Given the description of an element on the screen output the (x, y) to click on. 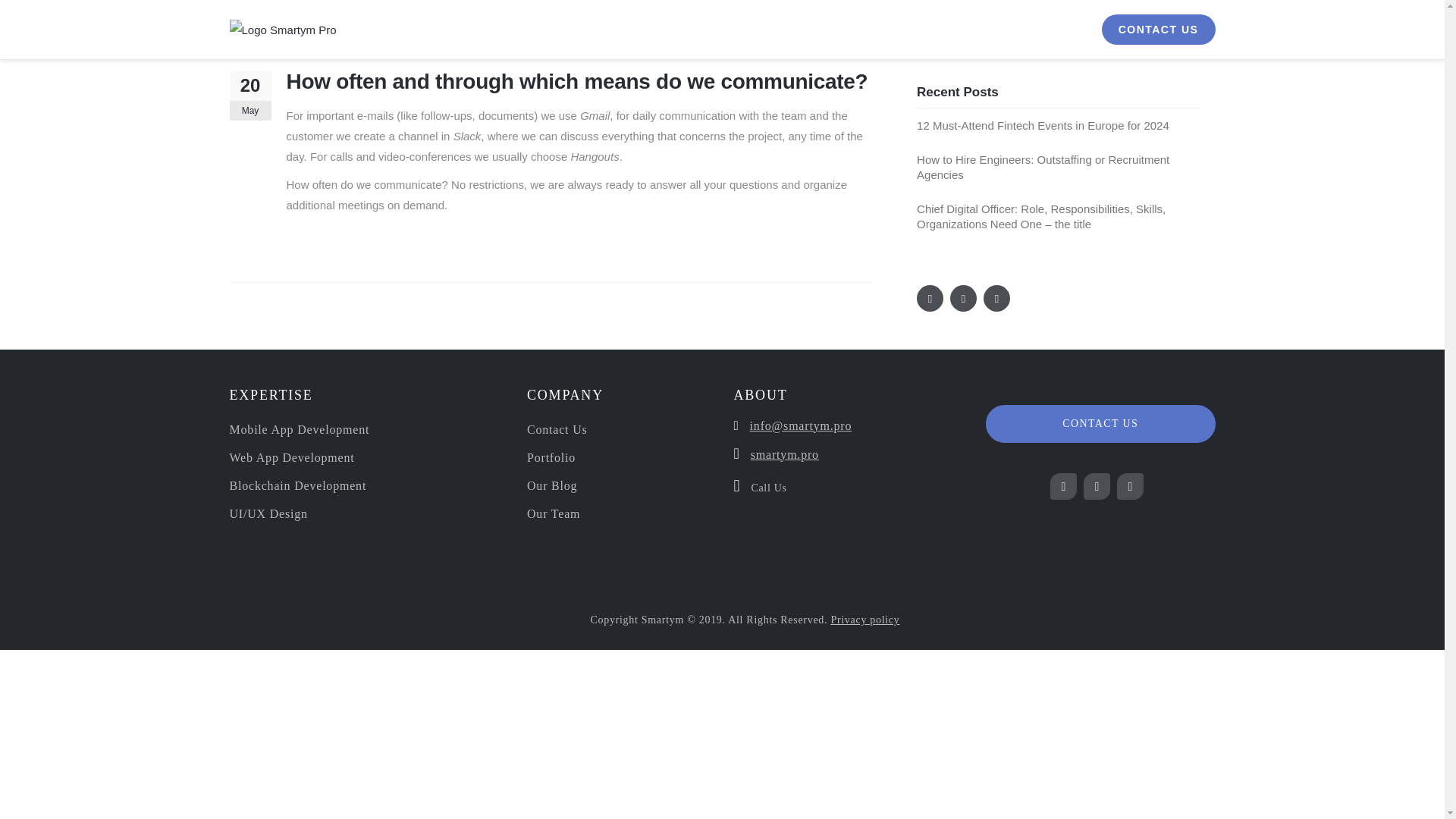
Contact Us (557, 429)
Blockchain Development (297, 485)
12 Must-Attend Fintech Events in Europe for 2024 (1043, 124)
Web App Development (290, 457)
Portfolio (551, 457)
How to Hire Engineers: Outstaffing or Recruitment Agencies (1043, 166)
Mobile App Development (298, 429)
CONTACT US (1157, 29)
